Given the description of an element on the screen output the (x, y) to click on. 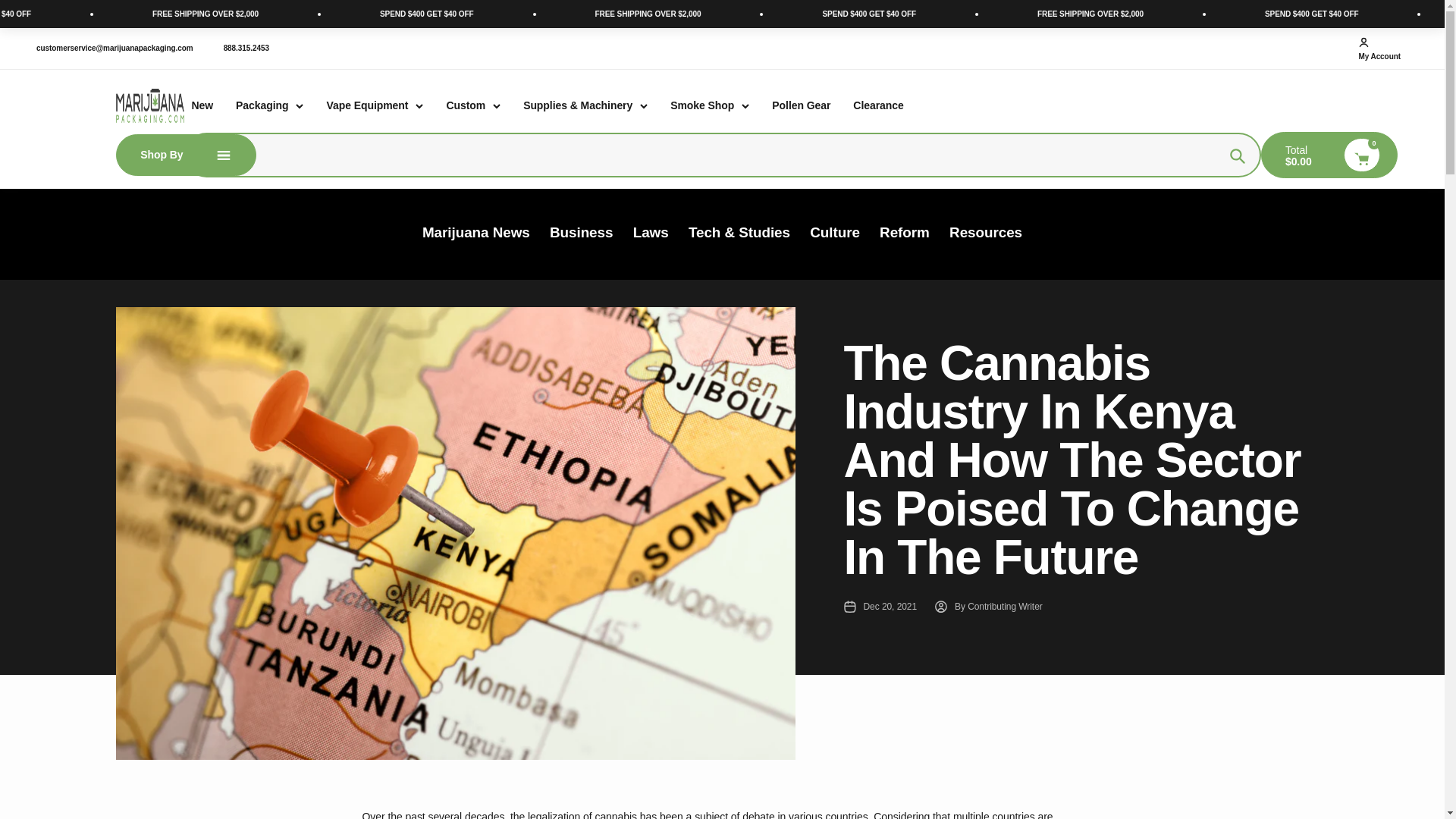
888.315.2453 (1379, 48)
New (246, 48)
